Given the description of an element on the screen output the (x, y) to click on. 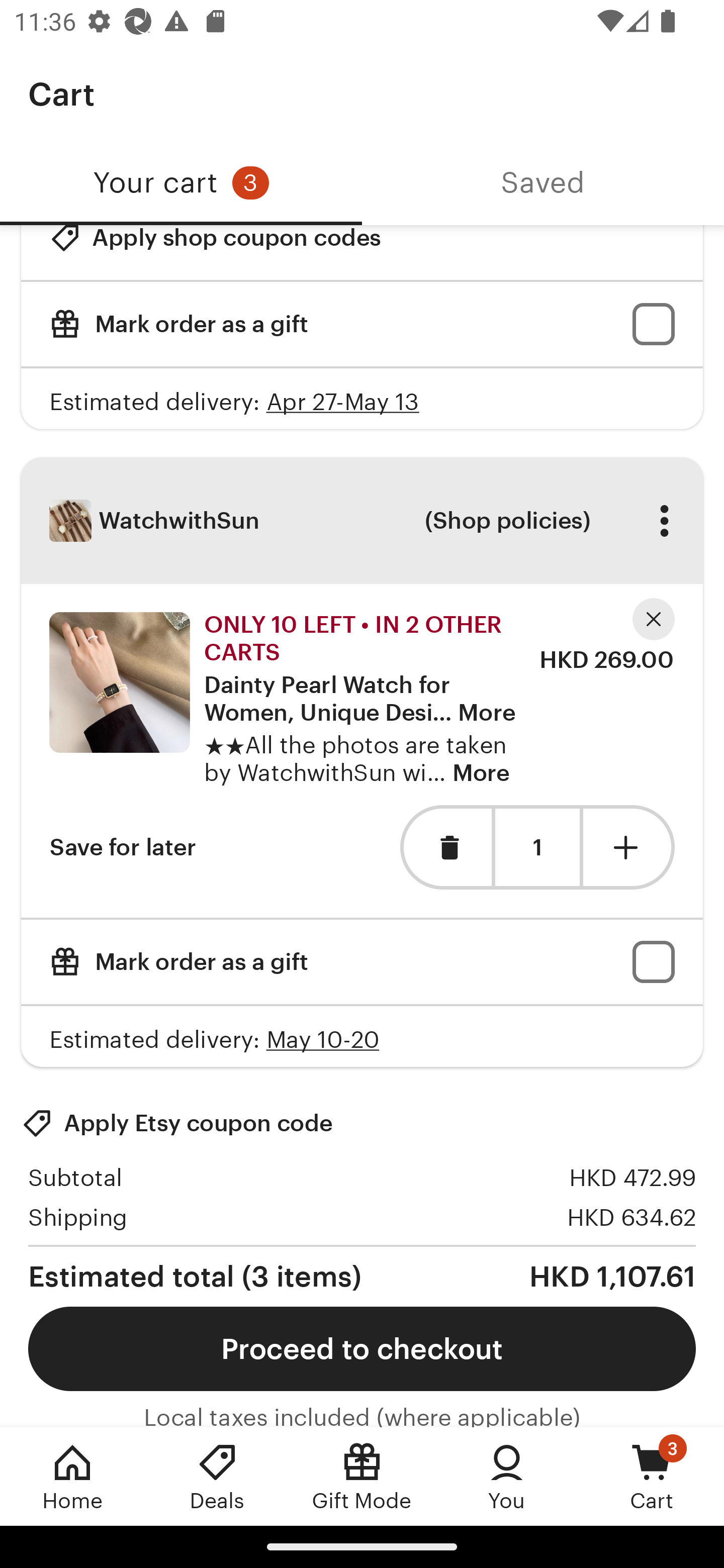
Saved, tab 2 of 2 Saved (543, 183)
Apply shop coupon codes (215, 252)
Mark order as a gift (361, 324)
WatchwithSun (Shop policies) More options (361, 520)
(Shop policies) (507, 520)
More options (663, 520)
Save for later (122, 846)
Remove item from cart (445, 846)
Add one unit to cart (628, 846)
1 (537, 847)
Mark order as a gift (361, 961)
Apply Etsy coupon code (177, 1122)
Proceed to checkout (361, 1348)
Home (72, 1475)
Deals (216, 1475)
Gift Mode (361, 1475)
You (506, 1475)
